Given the description of an element on the screen output the (x, y) to click on. 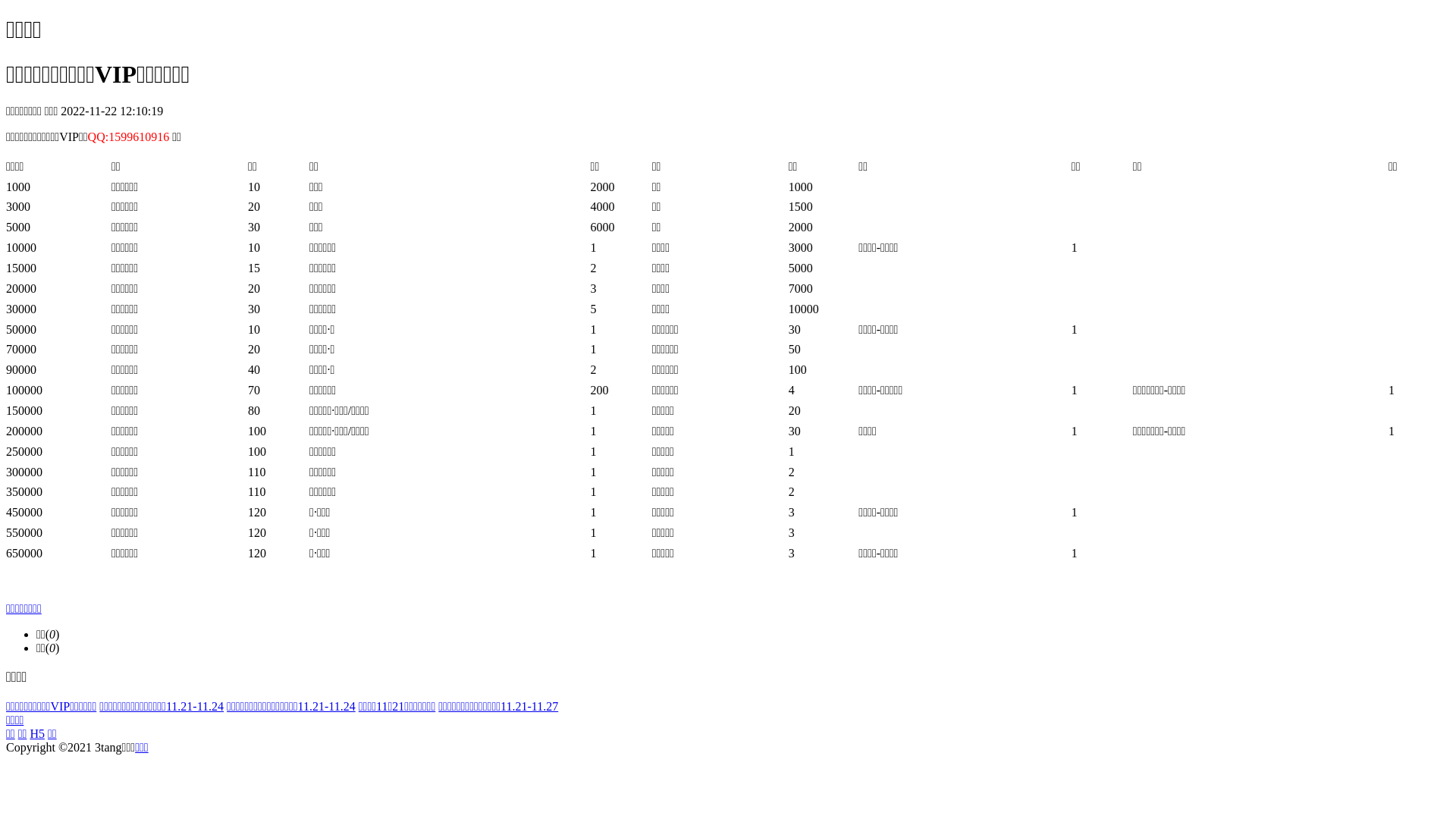
H5 Element type: text (36, 733)
